Given the description of an element on the screen output the (x, y) to click on. 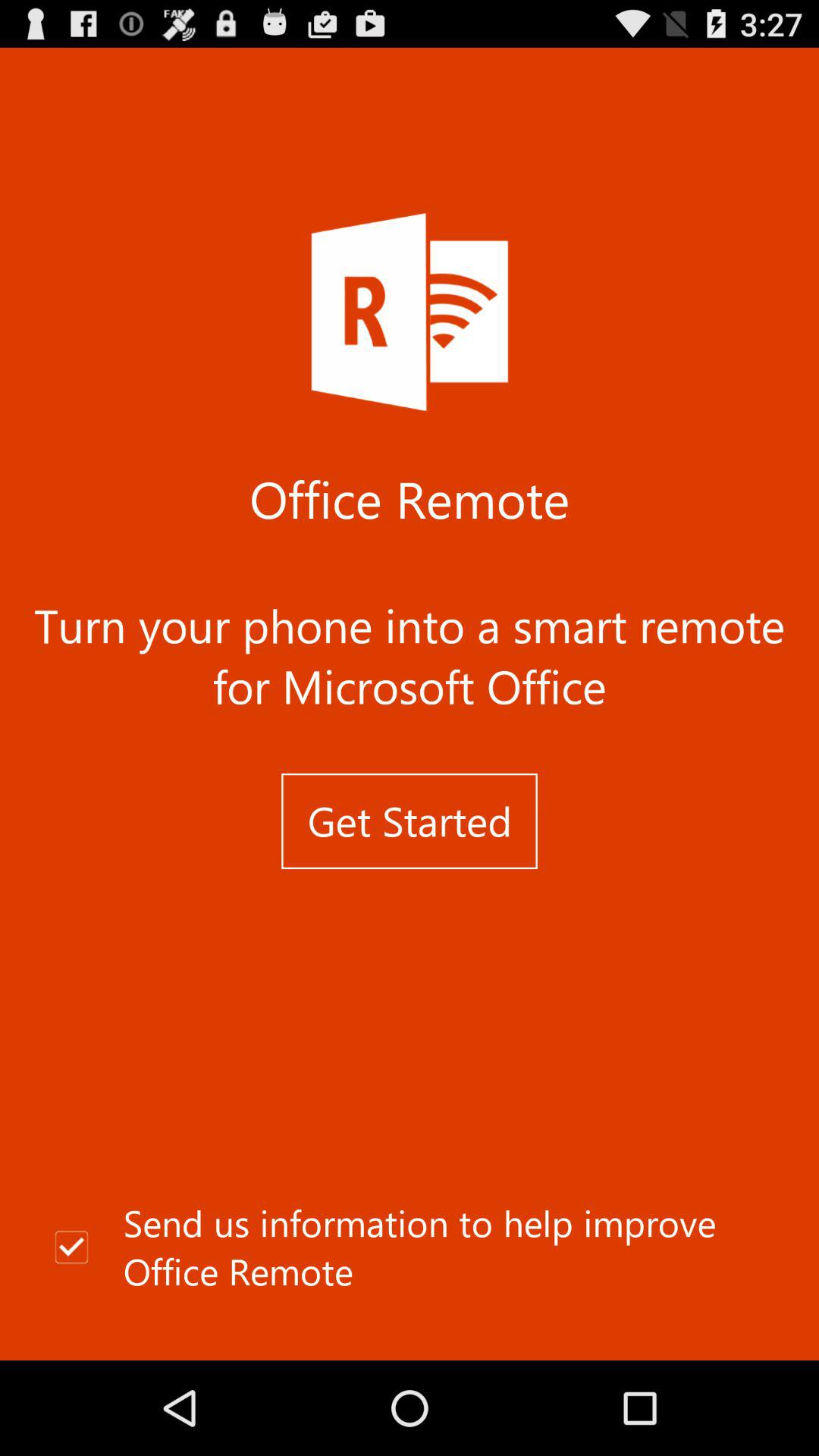
select the icon below turn your phone app (409, 821)
